Given the description of an element on the screen output the (x, y) to click on. 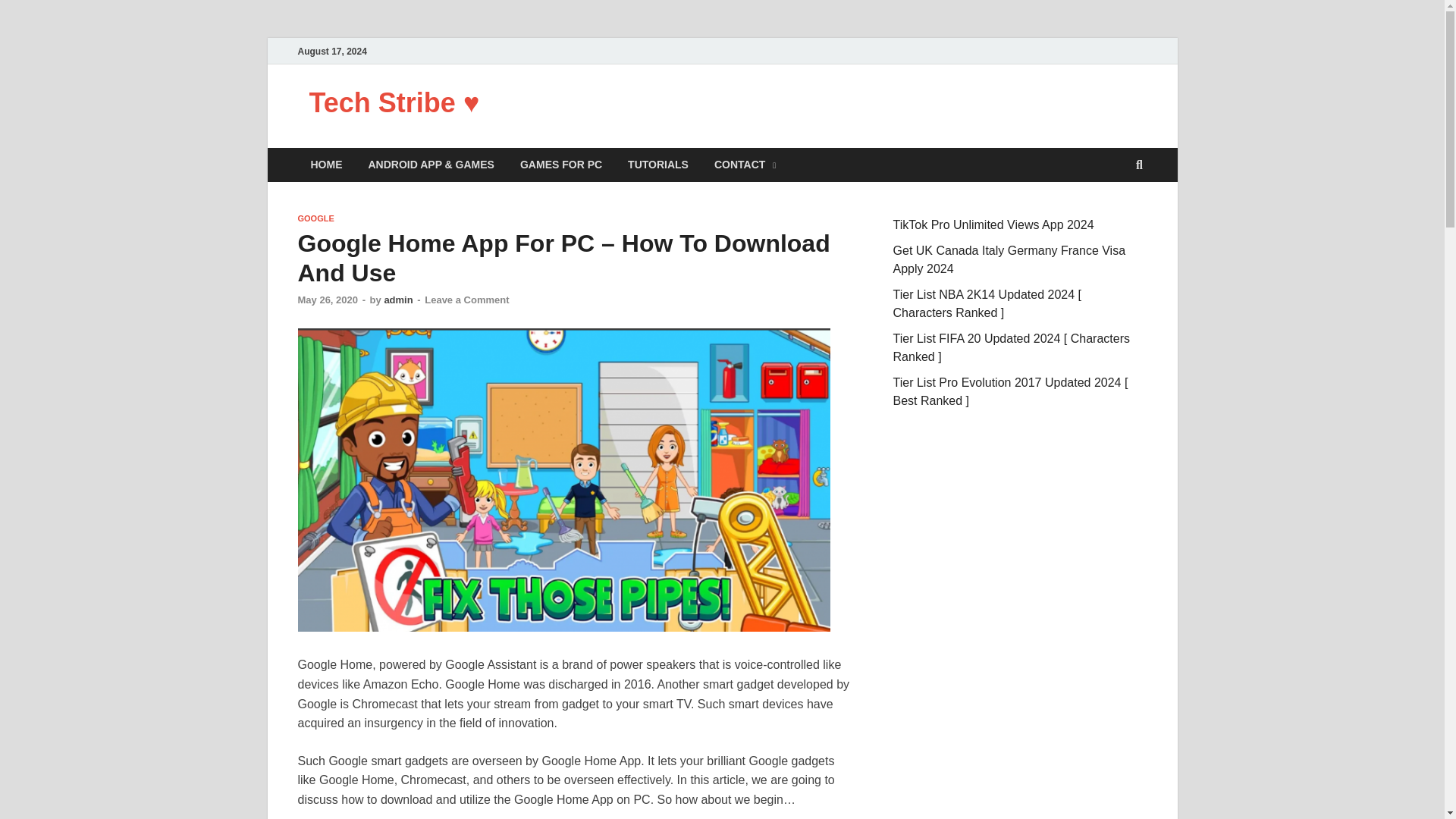
May 26, 2020 (327, 299)
TikTok Pro Unlimited Views App 2024 (993, 224)
TUTORIALS (657, 164)
GAMES FOR PC (560, 164)
HOME (326, 164)
admin (398, 299)
Leave a Comment (466, 299)
GOOGLE (315, 217)
CONTACT (745, 164)
Get UK Canada Italy Germany France Visa Apply 2024 (1009, 259)
